Given the description of an element on the screen output the (x, y) to click on. 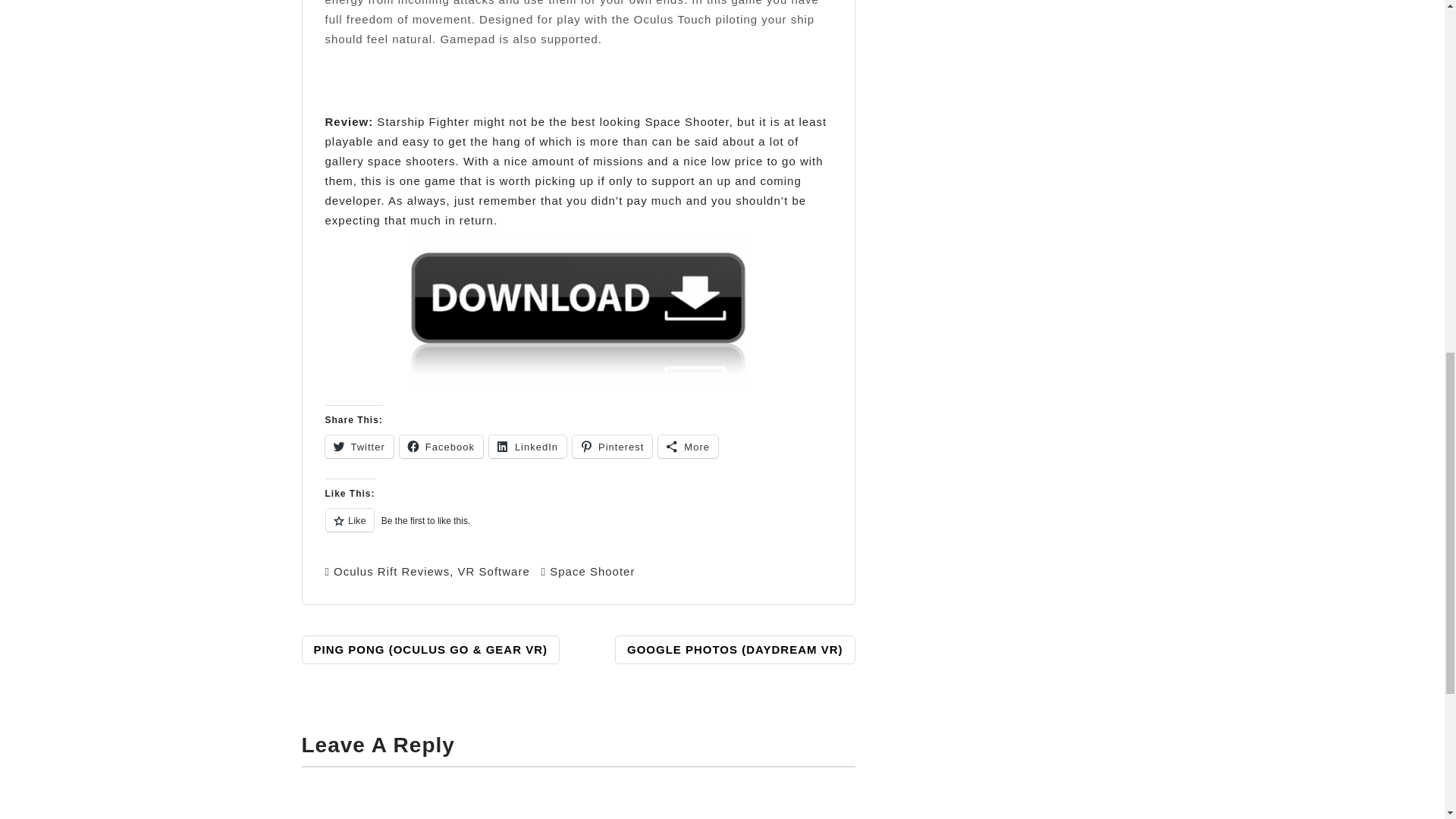
Click to share on Pinterest (612, 445)
Click to share on Facebook (440, 445)
Click to share on LinkedIn (527, 445)
Like or Reblog (577, 528)
Click to share on Twitter (358, 445)
